Given the description of an element on the screen output the (x, y) to click on. 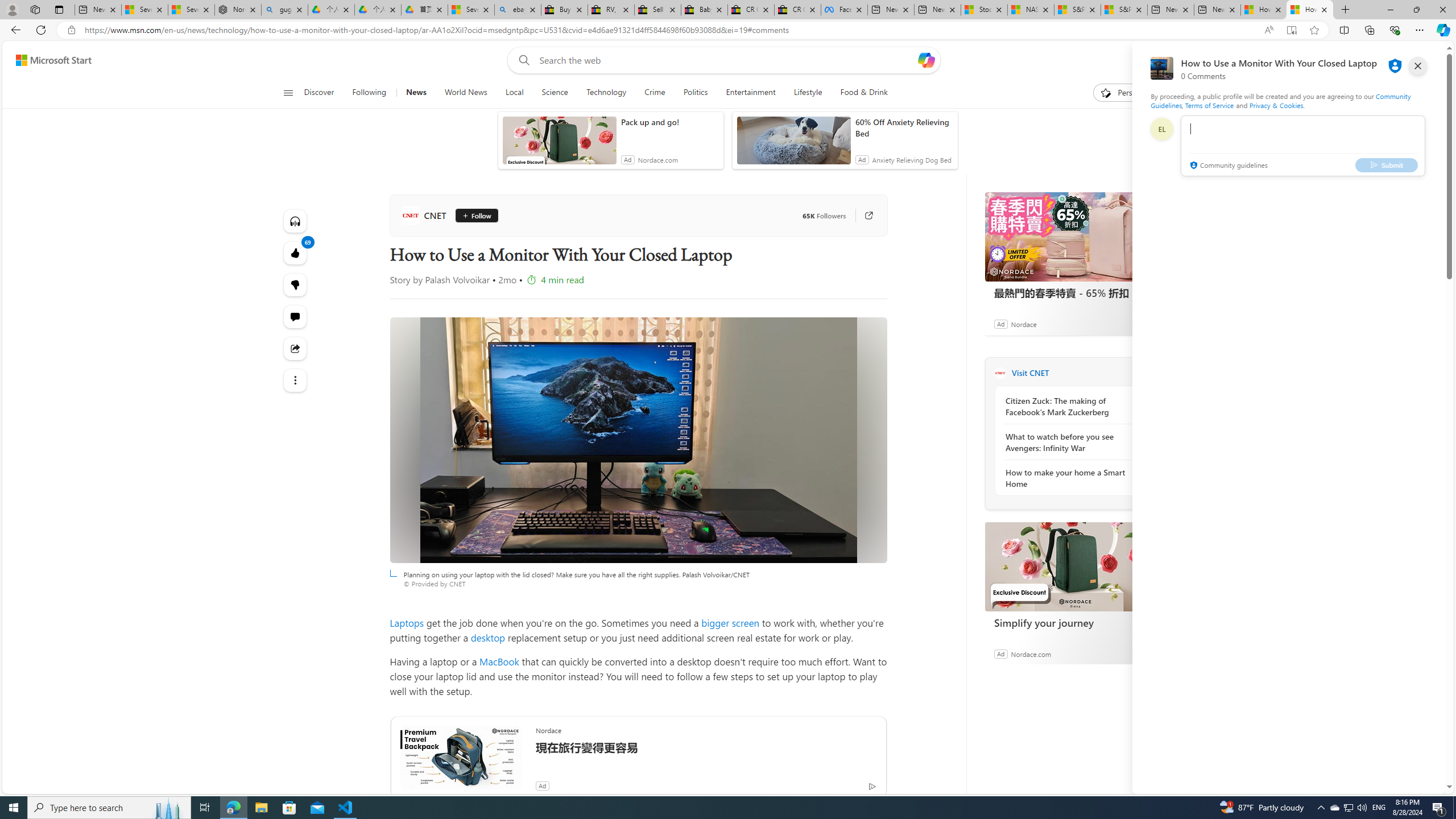
Technology (606, 92)
Terms of Service (1209, 104)
Class: button-glyph (287, 92)
Open settings (1420, 60)
World News (465, 92)
Facebook (844, 9)
close (1417, 65)
Crime (655, 92)
